Given the description of an element on the screen output the (x, y) to click on. 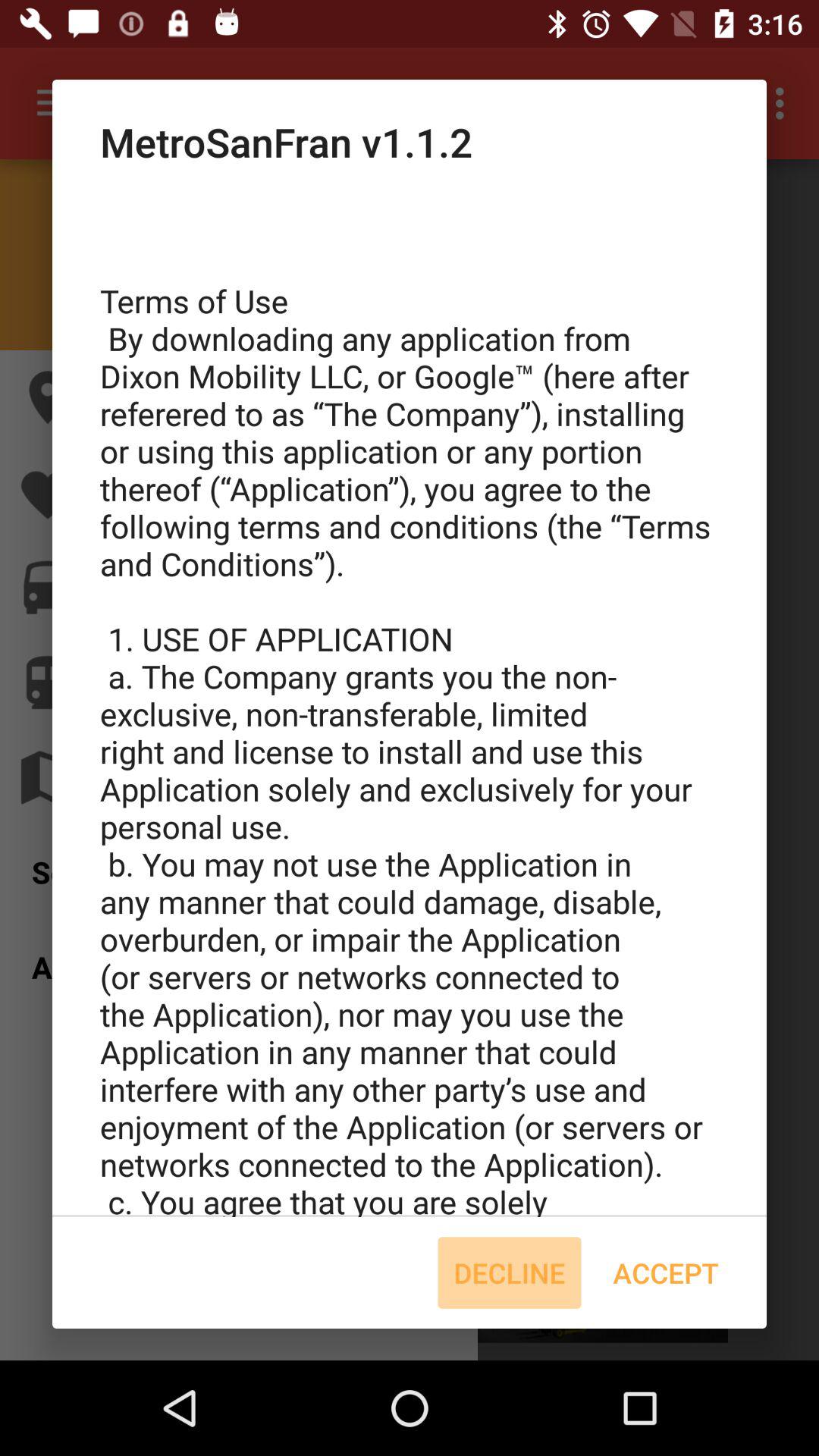
launch accept icon (665, 1272)
